Given the description of an element on the screen output the (x, y) to click on. 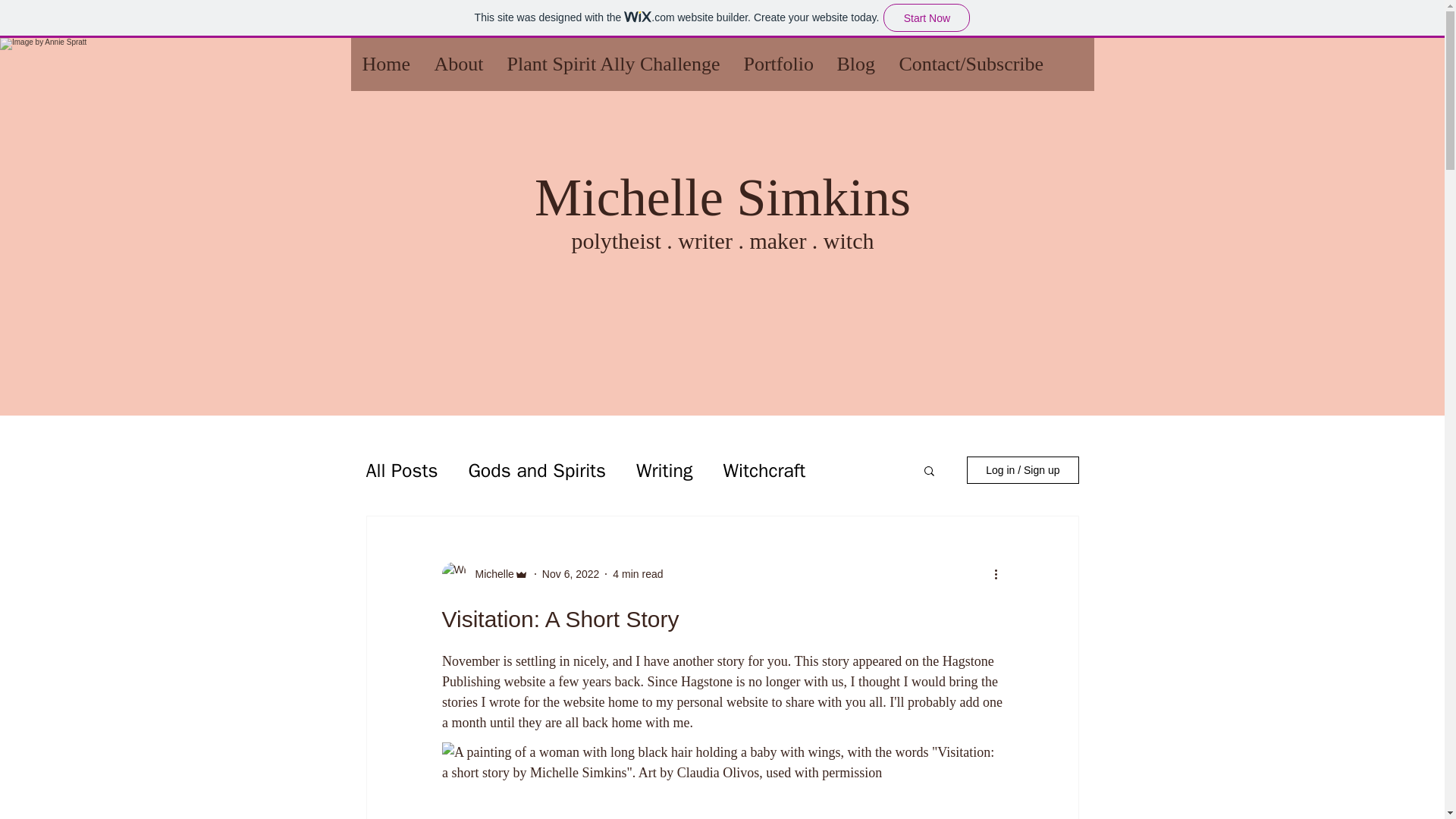
Blog (855, 63)
Nov 6, 2022 (570, 573)
Writing (664, 470)
Gods and Spirits (536, 470)
Witchcraft (763, 470)
Plant Spirit Ally Challenge (612, 63)
4 min read (637, 573)
Michelle (489, 573)
Home (386, 63)
About (458, 63)
